Given the description of an element on the screen output the (x, y) to click on. 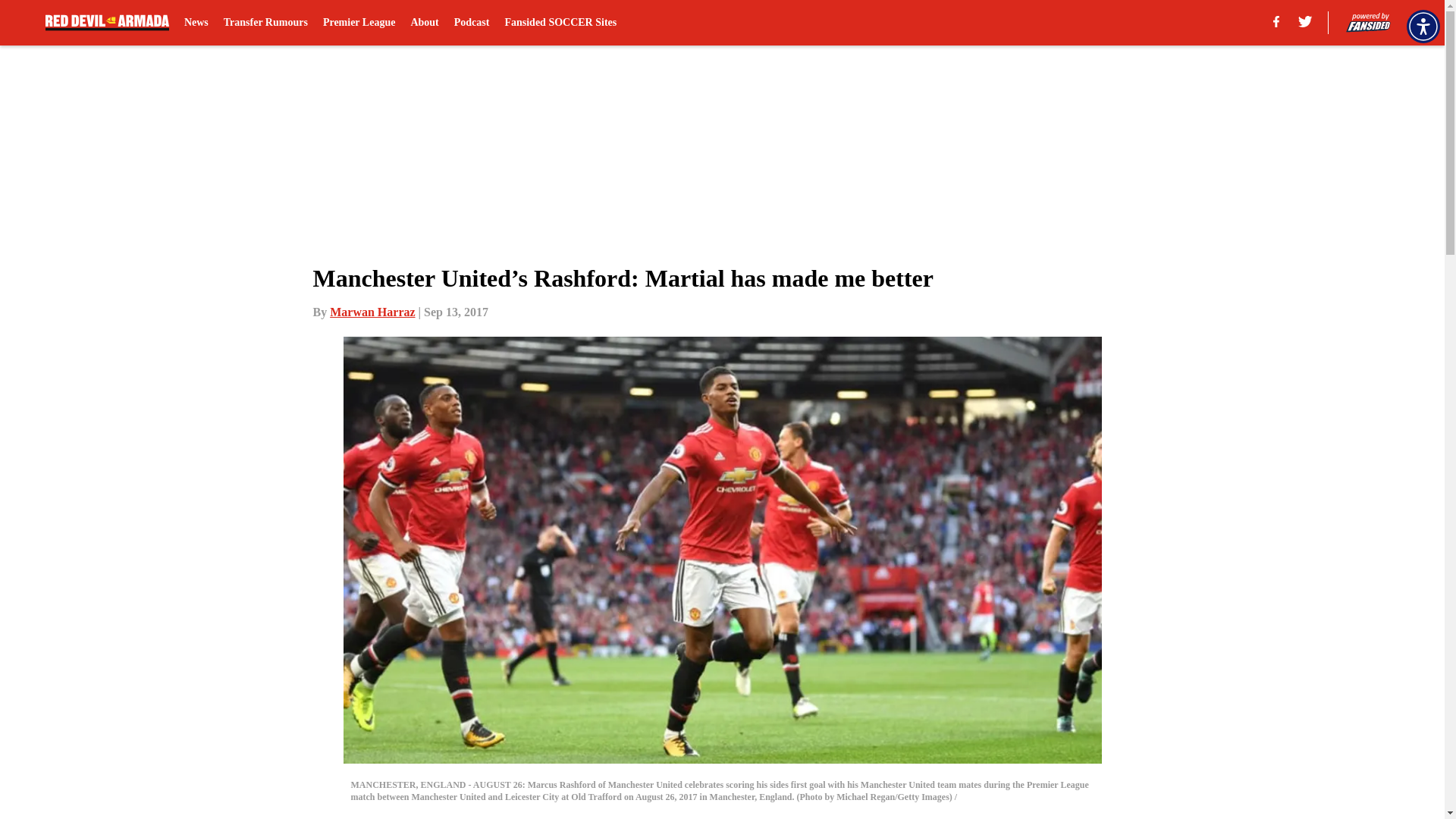
Fansided SOCCER Sites (559, 22)
Accessibility Menu (1422, 26)
News (196, 22)
About (424, 22)
Marwan Harraz (372, 311)
Podcast (471, 22)
Transfer Rumours (265, 22)
Premier League (359, 22)
